Given the description of an element on the screen output the (x, y) to click on. 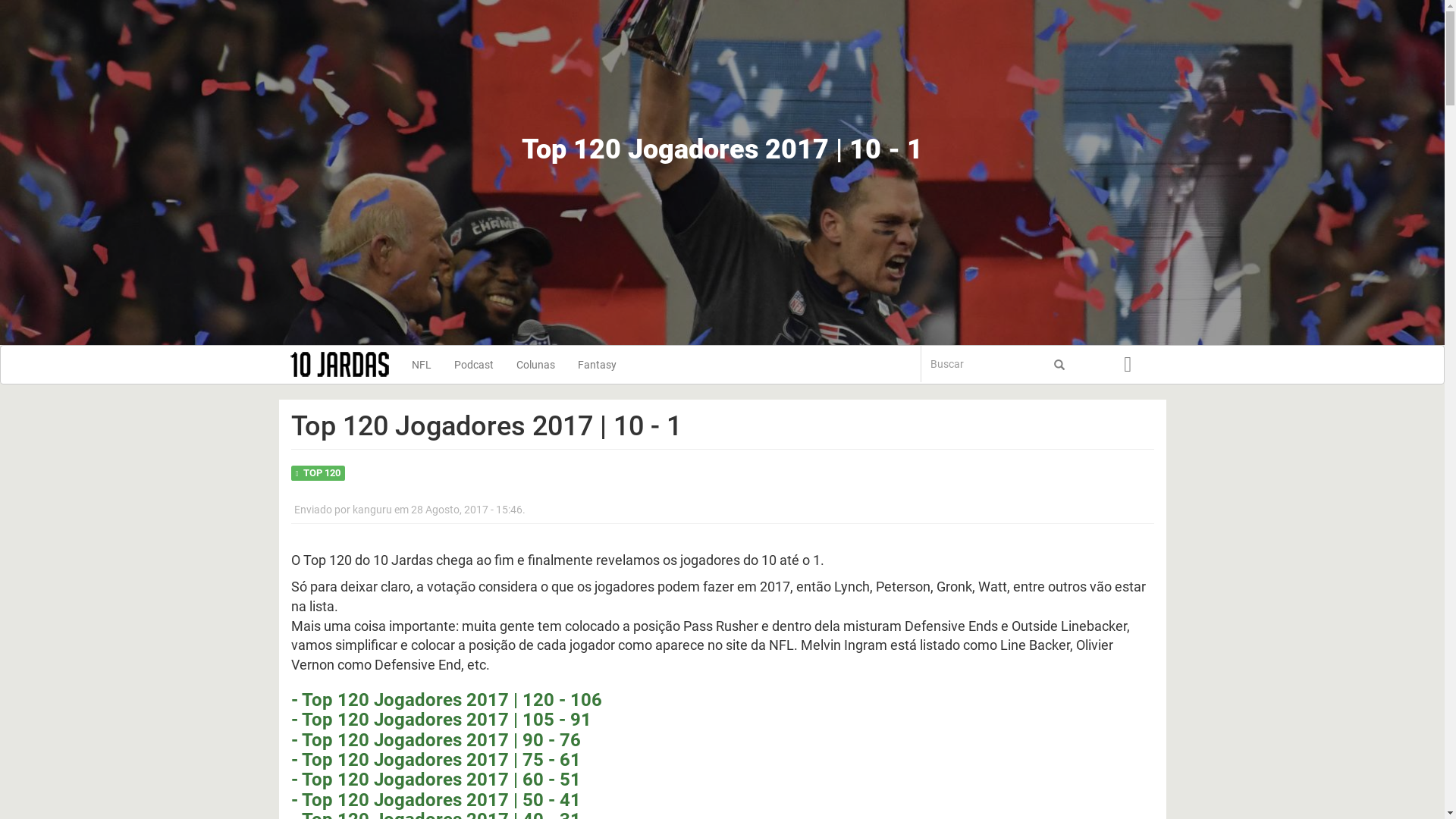
- Top 120 Jogadores 2017 | 50 - 41 Element type: text (435, 799)
NFL Element type: text (421, 364)
Fantasy Element type: text (596, 364)
Buscar Element type: text (930, 389)
Podcast Element type: text (473, 364)
TOP 120 Element type: text (321, 472)
- Top 120 Jogadores 2017 | 105 - 91 Element type: text (441, 719)
- Top 120 Jogadores 2017 | 60 - 51 Element type: text (435, 779)
- Top 120 Jogadores 2017 | 75 - 61 Element type: text (435, 759)
Colunas Element type: text (535, 364)
- Top 120 Jogadores 2017 | 120 - 106 Element type: text (446, 699)
- Top 120 Jogadores 2017 | 90 - 76 Element type: text (435, 739)
